Given the description of an element on the screen output the (x, y) to click on. 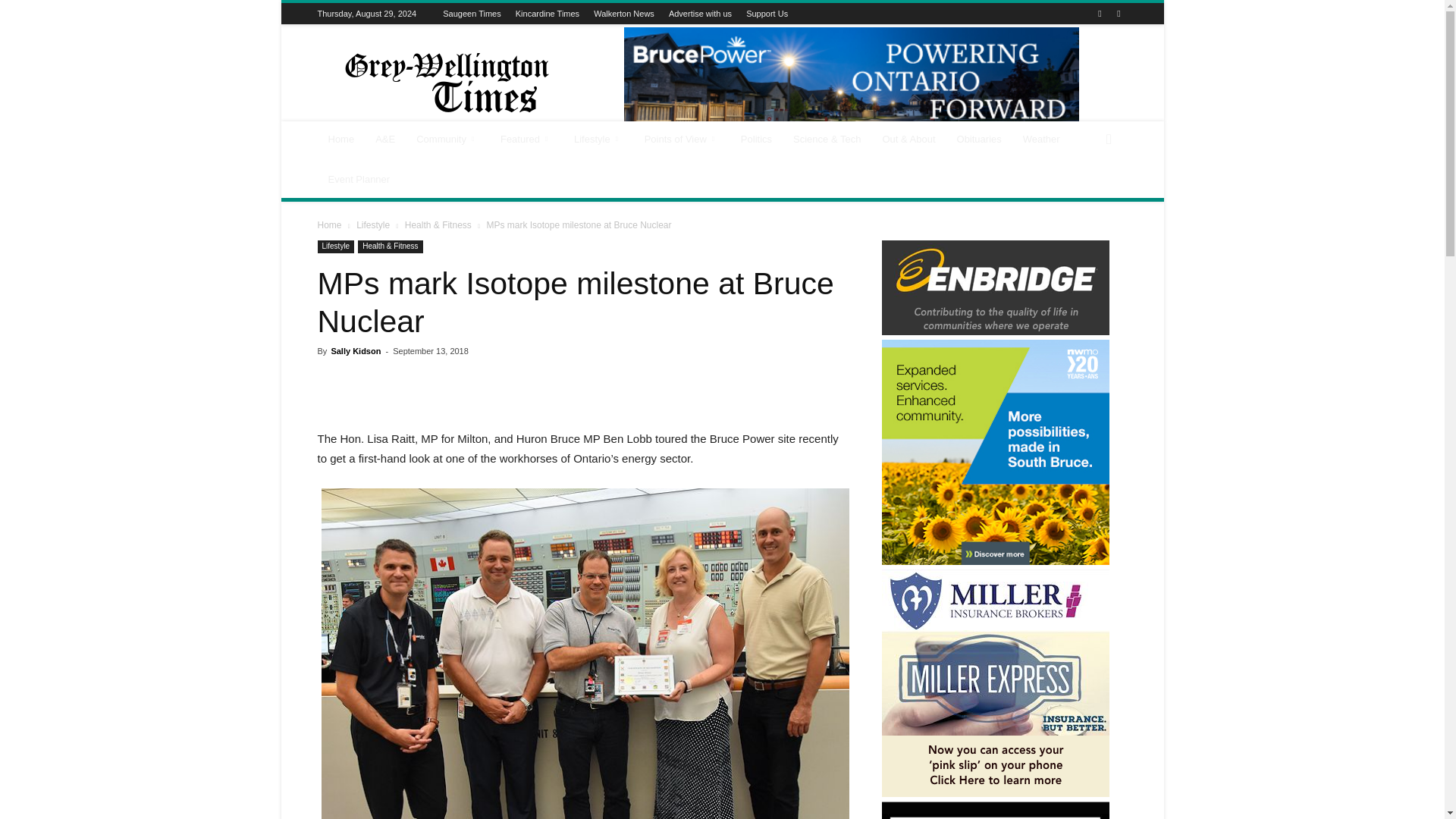
Saugeen Times (471, 13)
Advertise with us (700, 13)
Kincardine Times (547, 13)
Walkerton News (623, 13)
View all posts in Lifestyle (373, 225)
Support Us (766, 13)
